Given the description of an element on the screen output the (x, y) to click on. 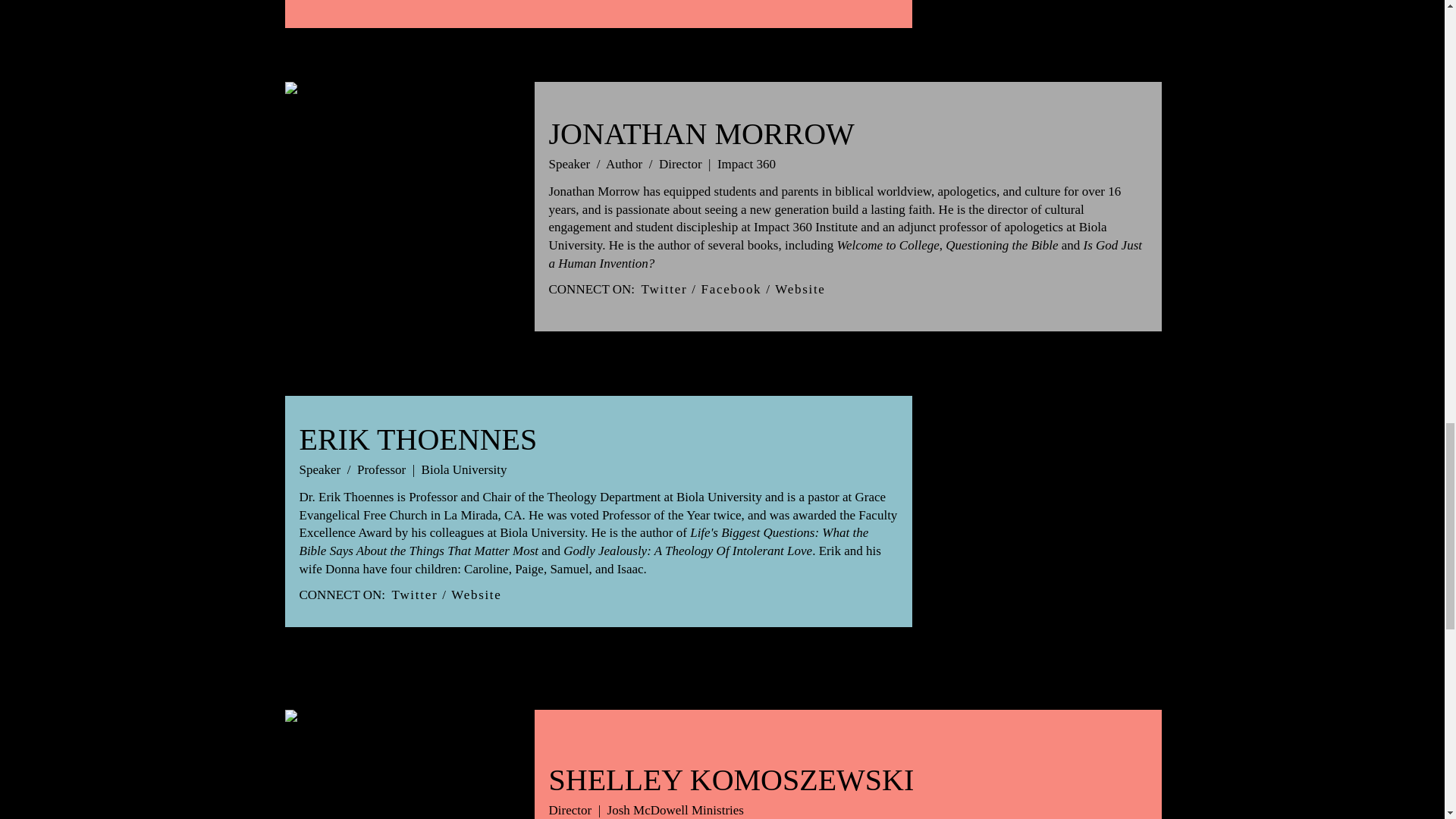
Website (799, 288)
Twitter (664, 288)
Facebook (731, 288)
Twitter (414, 594)
Website (475, 594)
